Given the description of an element on the screen output the (x, y) to click on. 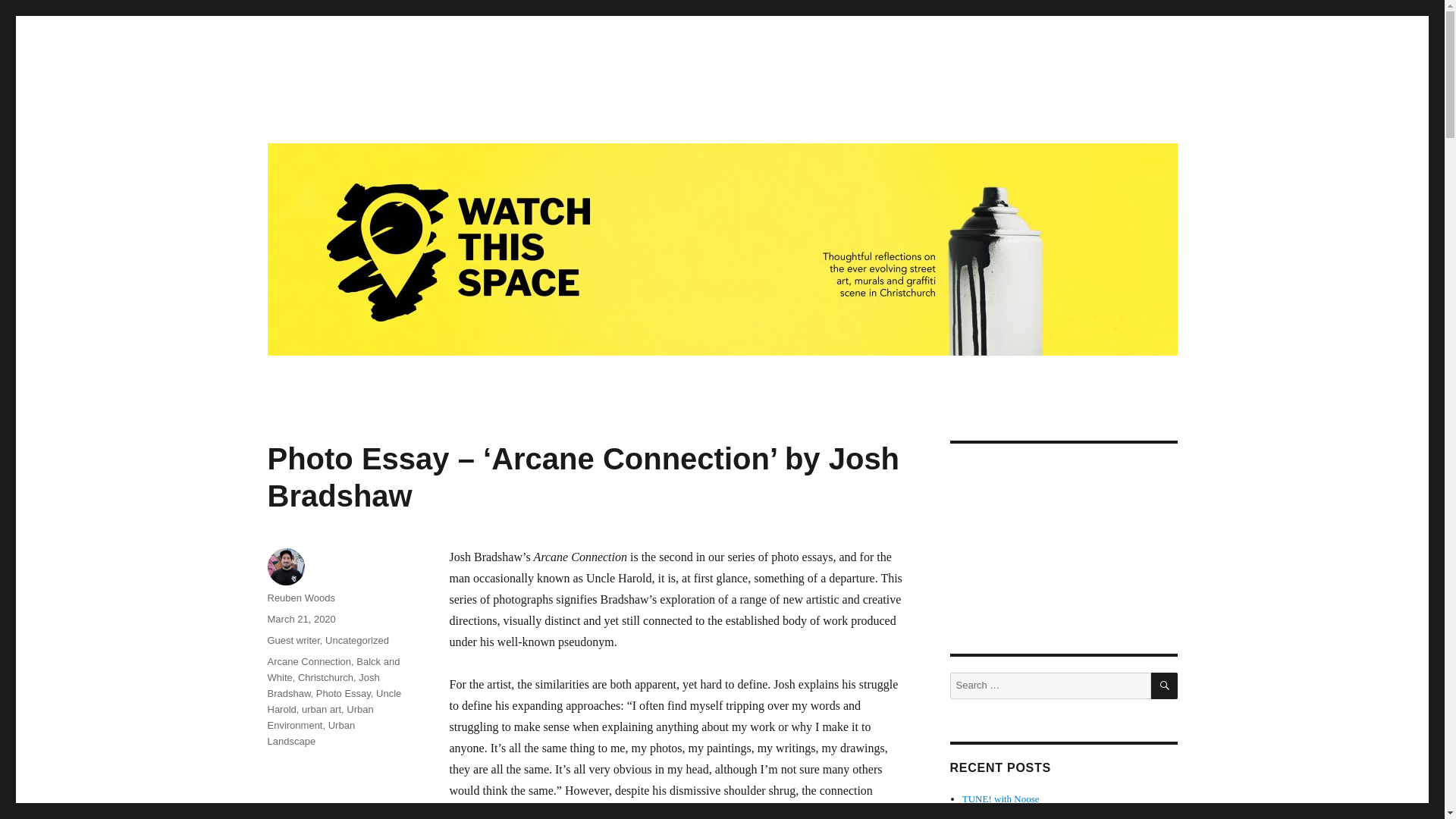
Guest writer (292, 640)
TUNE! with Noose (1000, 798)
Urban Environment (319, 717)
SHOWTIME! Reclaimed by Distranged Design (1056, 814)
Balck and White (332, 669)
Christchurch (325, 677)
Uncategorized (356, 640)
Photo Essay (343, 693)
March 21, 2020 (300, 618)
Arcane Connection (308, 661)
Josh Bradshaw (322, 685)
urban art (320, 708)
Uncle Harold (333, 700)
Watch This Space (357, 114)
SEARCH (1164, 685)
